Given the description of an element on the screen output the (x, y) to click on. 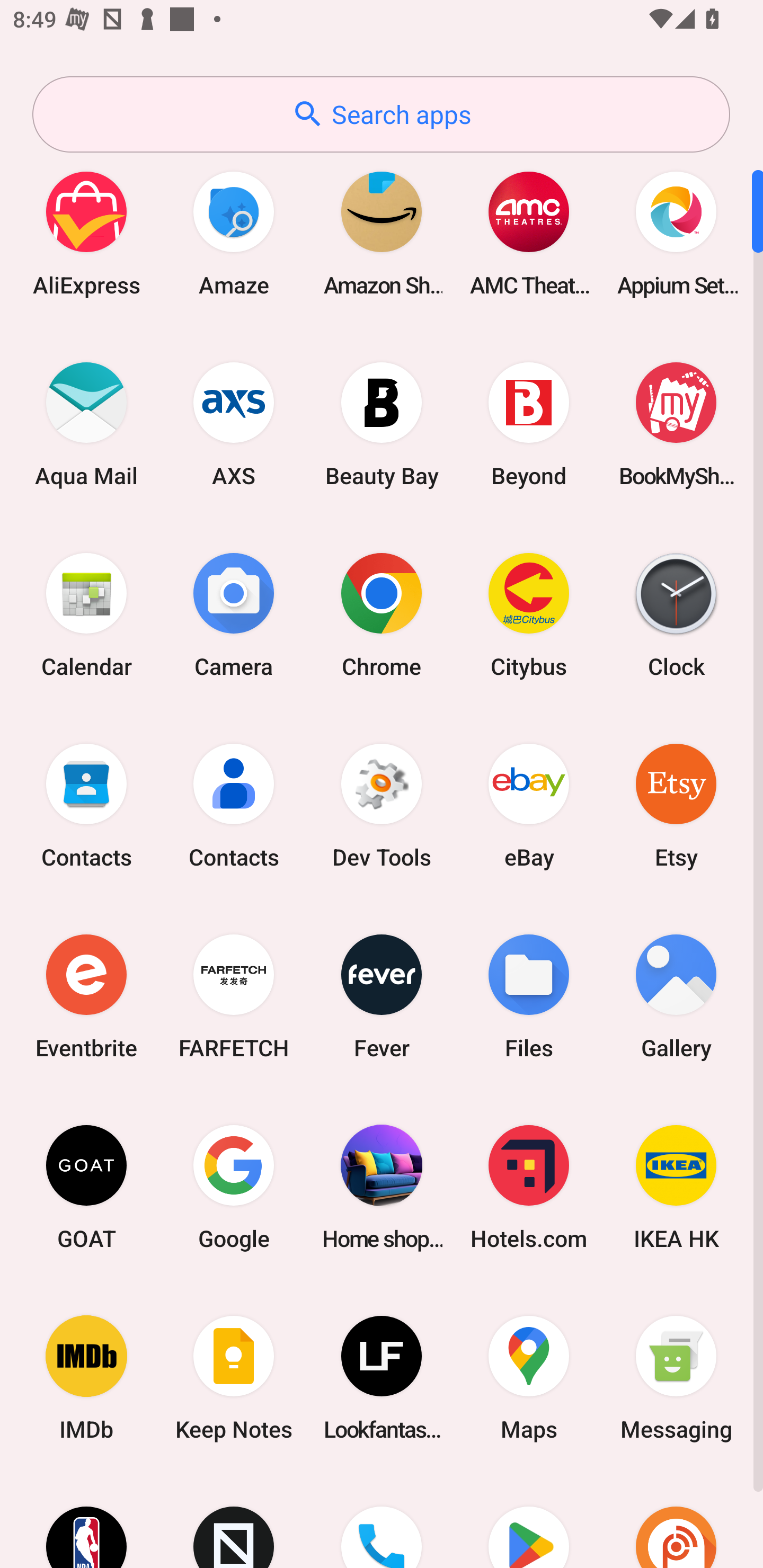
  Search apps (381, 114)
AliExpress (86, 233)
Amaze (233, 233)
Amazon Shopping (381, 233)
AMC Theatres (528, 233)
Appium Settings (676, 233)
Aqua Mail (86, 424)
AXS (233, 424)
Beauty Bay (381, 424)
Beyond (528, 424)
BookMyShow (676, 424)
Calendar (86, 614)
Camera (233, 614)
Chrome (381, 614)
Citybus (528, 614)
Clock (676, 614)
Contacts (86, 805)
Contacts (233, 805)
Dev Tools (381, 805)
eBay (528, 805)
Etsy (676, 805)
Eventbrite (86, 996)
FARFETCH (233, 996)
Fever (381, 996)
Files (528, 996)
Gallery (676, 996)
GOAT (86, 1186)
Google (233, 1186)
Home shopping (381, 1186)
Hotels.com (528, 1186)
IKEA HK (676, 1186)
IMDb (86, 1377)
Keep Notes (233, 1377)
Lookfantastic (381, 1377)
Maps (528, 1377)
Messaging (676, 1377)
NBA (86, 1520)
Novelship (233, 1520)
Phone (381, 1520)
Play Store (528, 1520)
Podcast Addict (676, 1520)
